Given the description of an element on the screen output the (x, y) to click on. 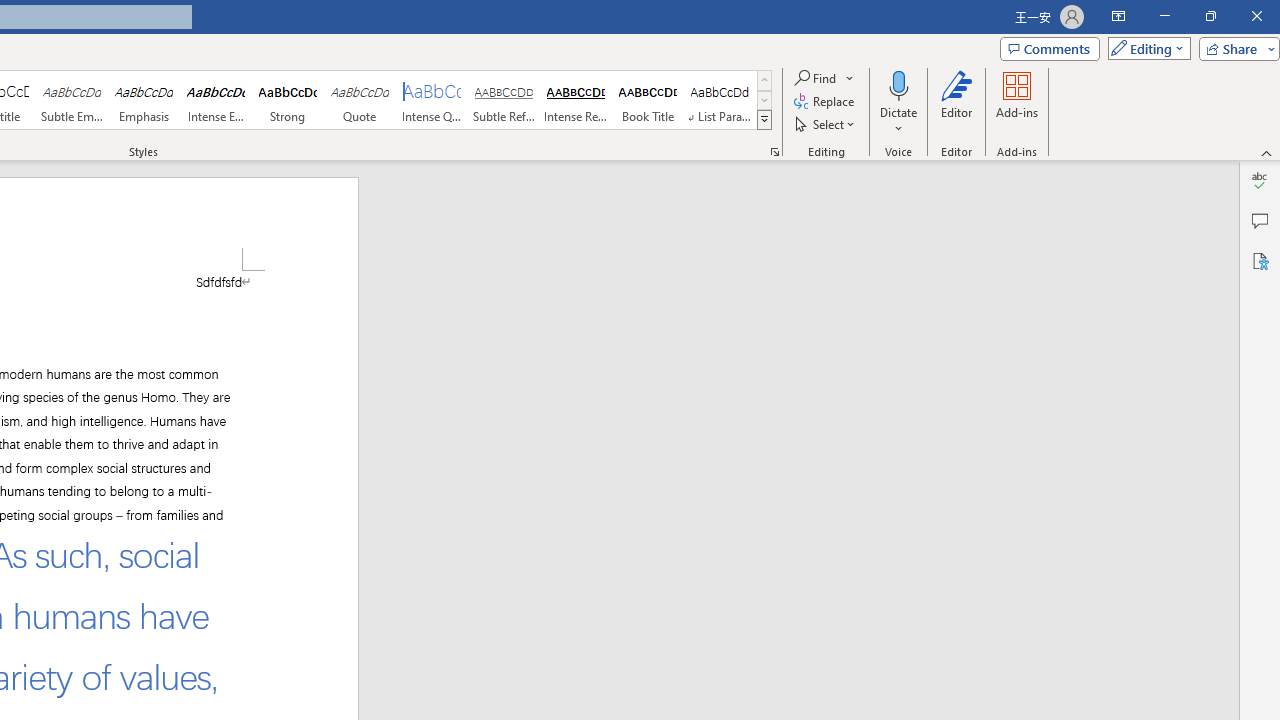
Subtle Emphasis (71, 100)
